Given the description of an element on the screen output the (x, y) to click on. 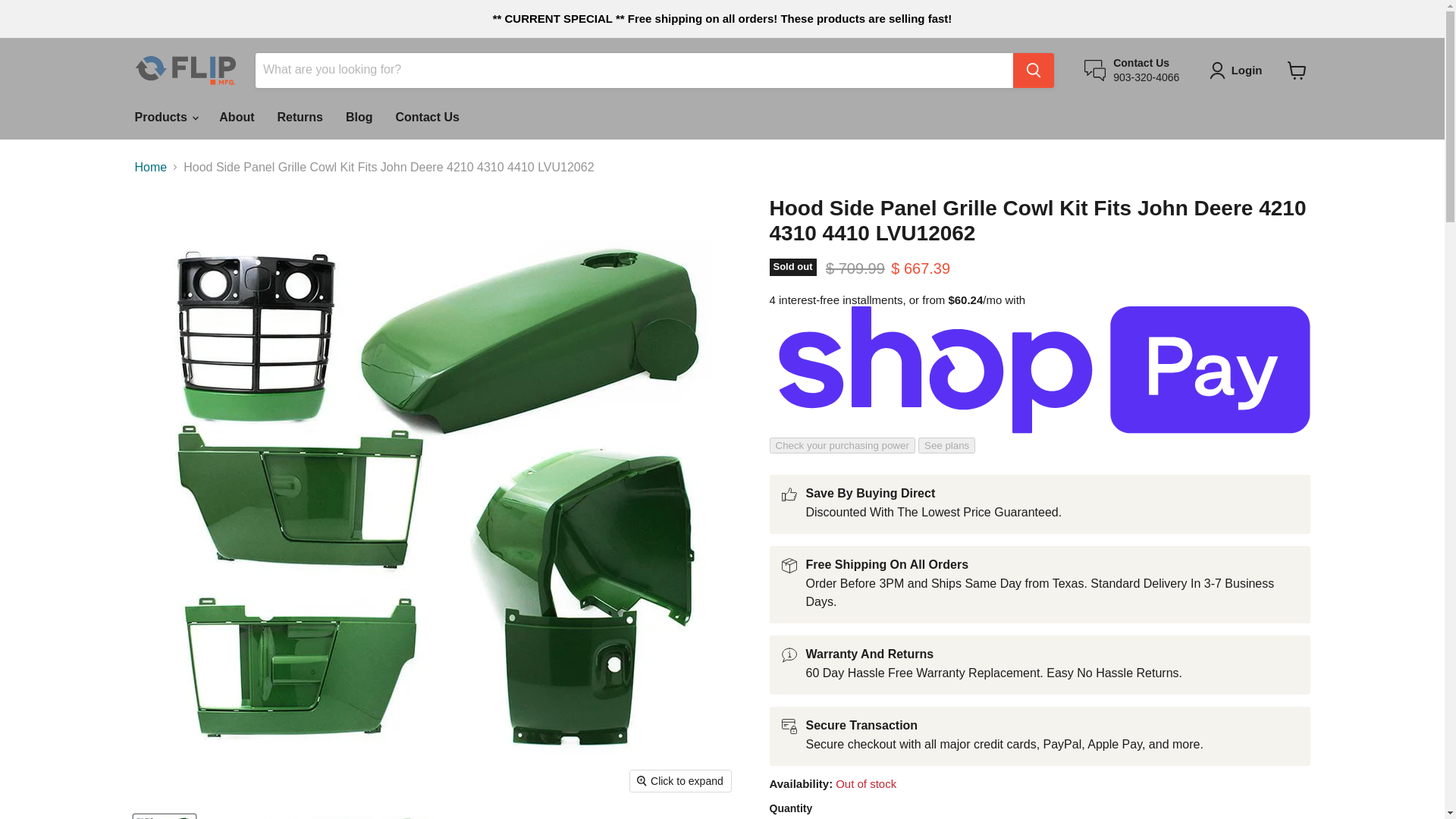
View cart (1296, 69)
Login (1238, 70)
